Given the description of an element on the screen output the (x, y) to click on. 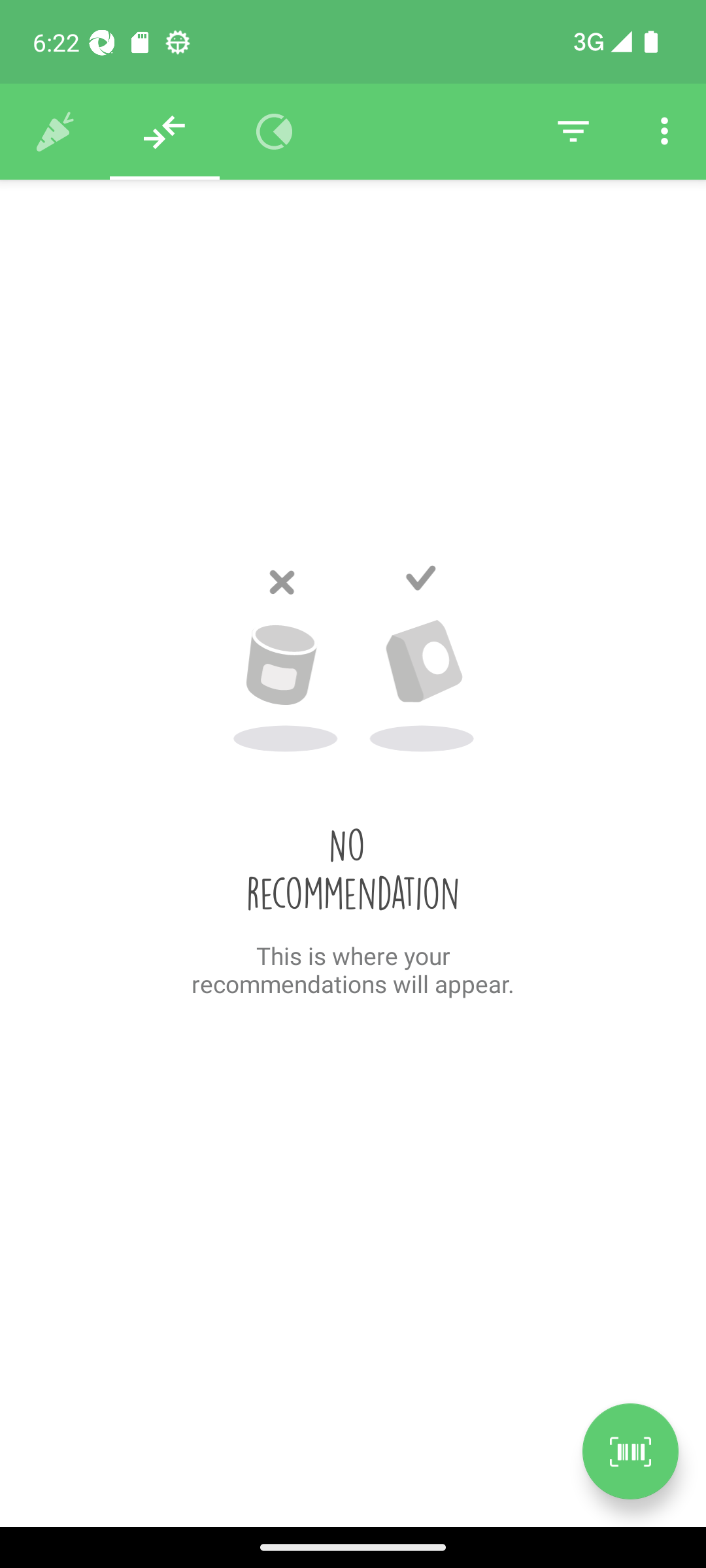
History (55, 131)
Overview (274, 131)
Filter (572, 131)
Settings (664, 131)
Scan a product (630, 1451)
